Given the description of an element on the screen output the (x, y) to click on. 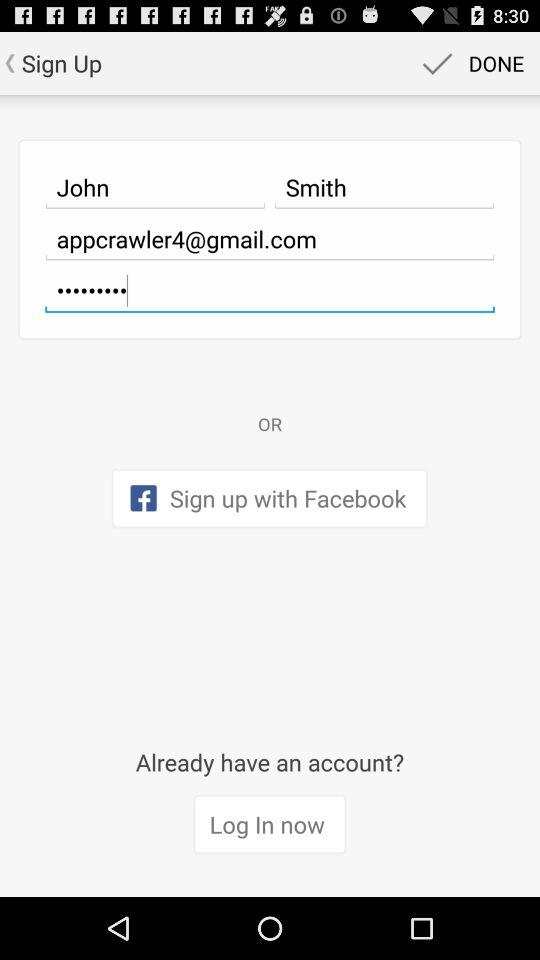
flip to the appcrawler4@gmail.com item (269, 239)
